Given the description of an element on the screen output the (x, y) to click on. 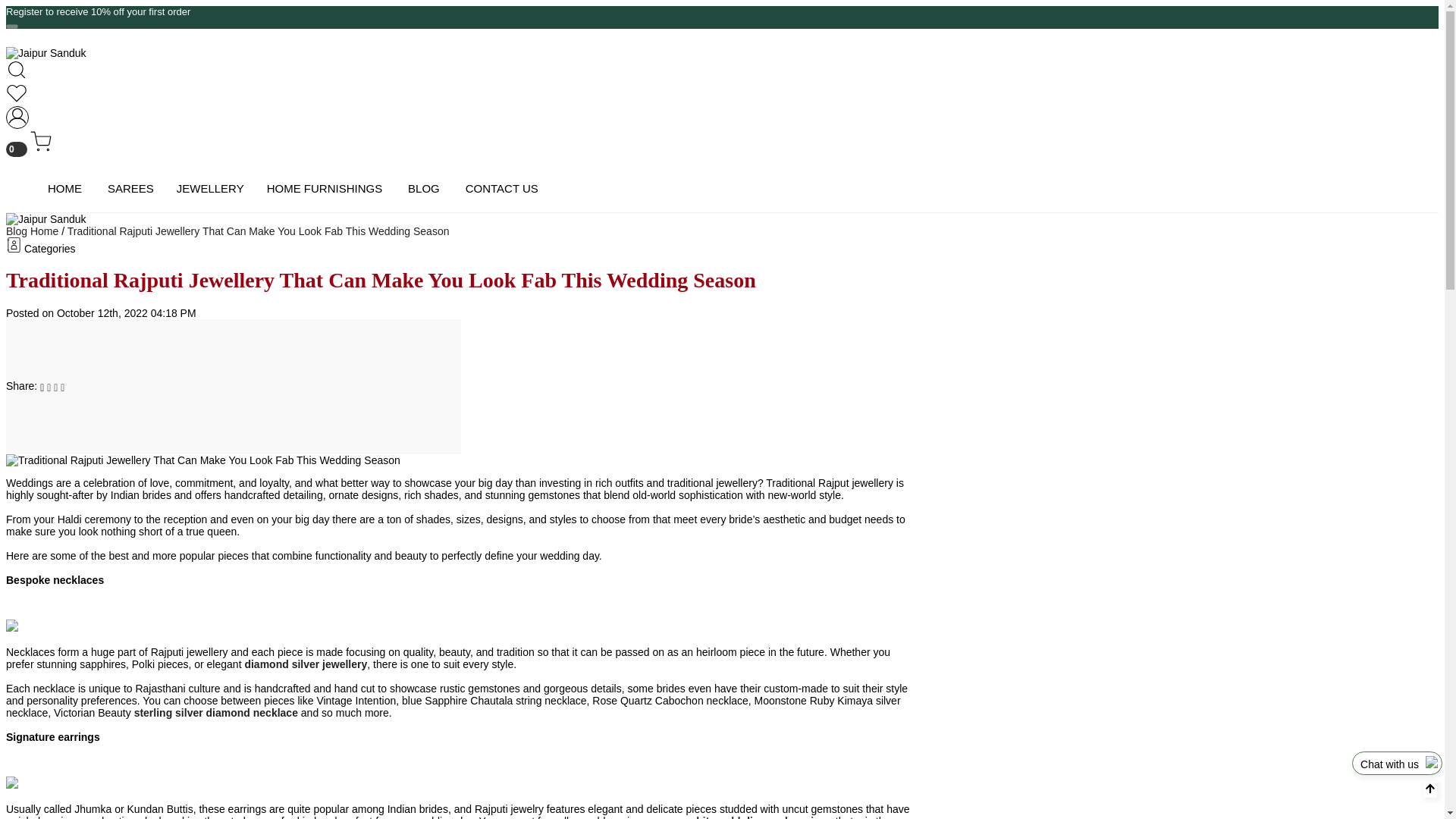
HOME (64, 188)
SAREES (130, 188)
CONTACT US (502, 188)
white gold diamond earrings (759, 816)
Home (45, 52)
HOME FURNISHINGS (325, 188)
Search (45, 70)
Account (17, 124)
Shopping Bag (27, 148)
